Given the description of an element on the screen output the (x, y) to click on. 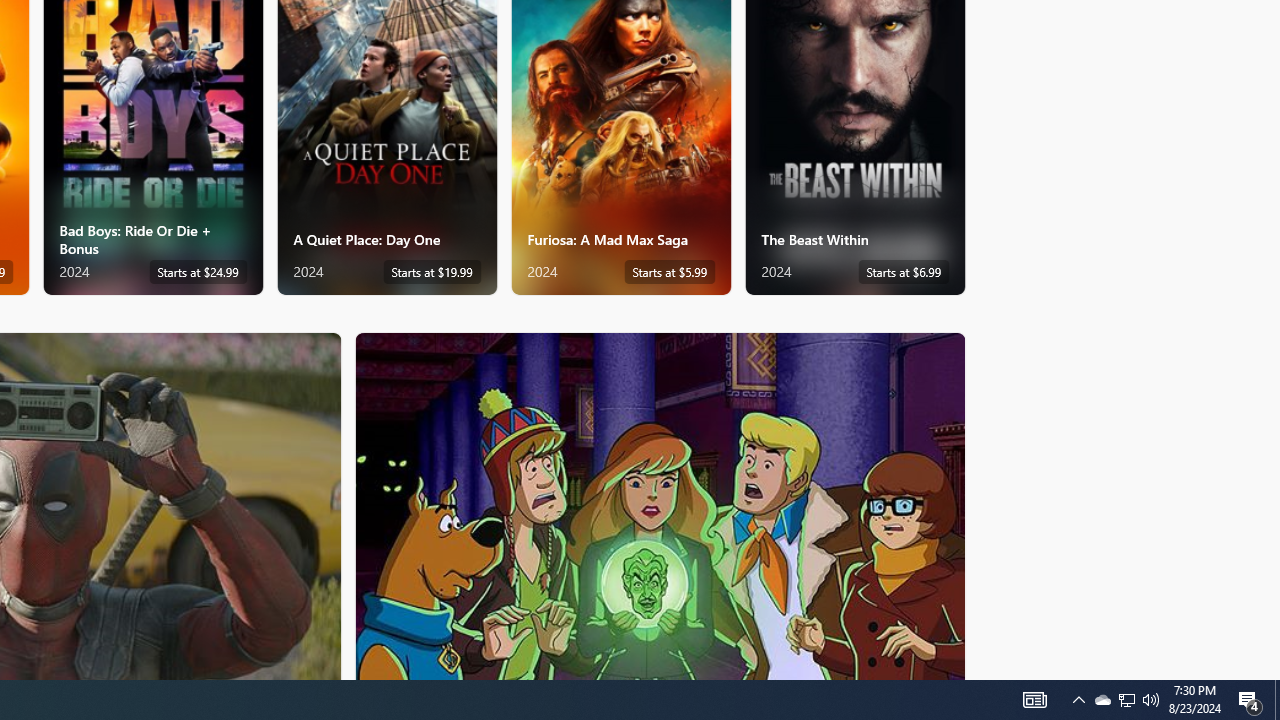
AutomationID: PosterImage (658, 505)
Family (660, 505)
